Given the description of an element on the screen output the (x, y) to click on. 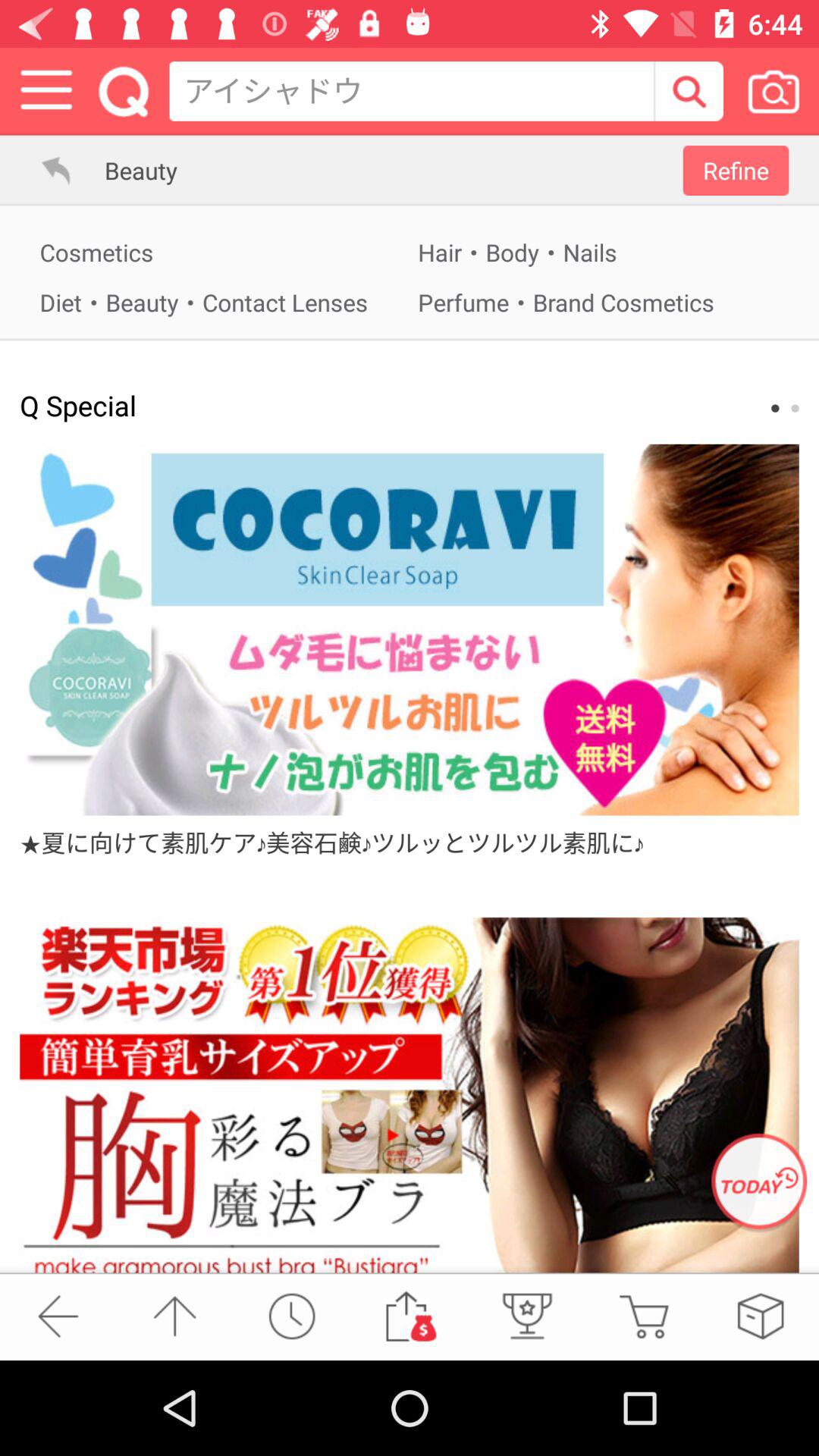
to search via a picture (773, 91)
